Given the description of an element on the screen output the (x, y) to click on. 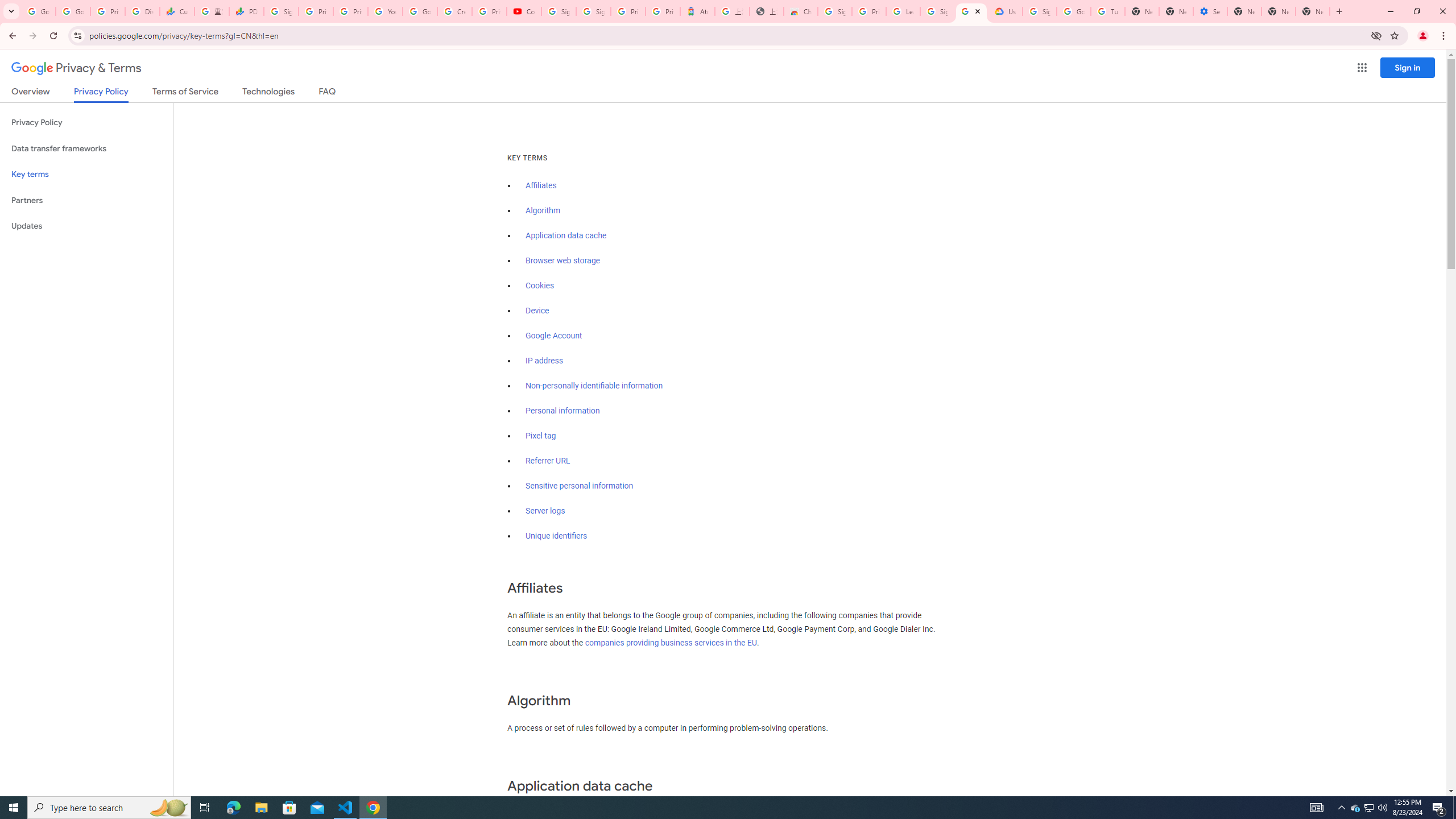
Cookies (539, 285)
Privacy Checkup (349, 11)
IP address (544, 361)
Google Workspace Admin Community (38, 11)
